Given the description of an element on the screen output the (x, y) to click on. 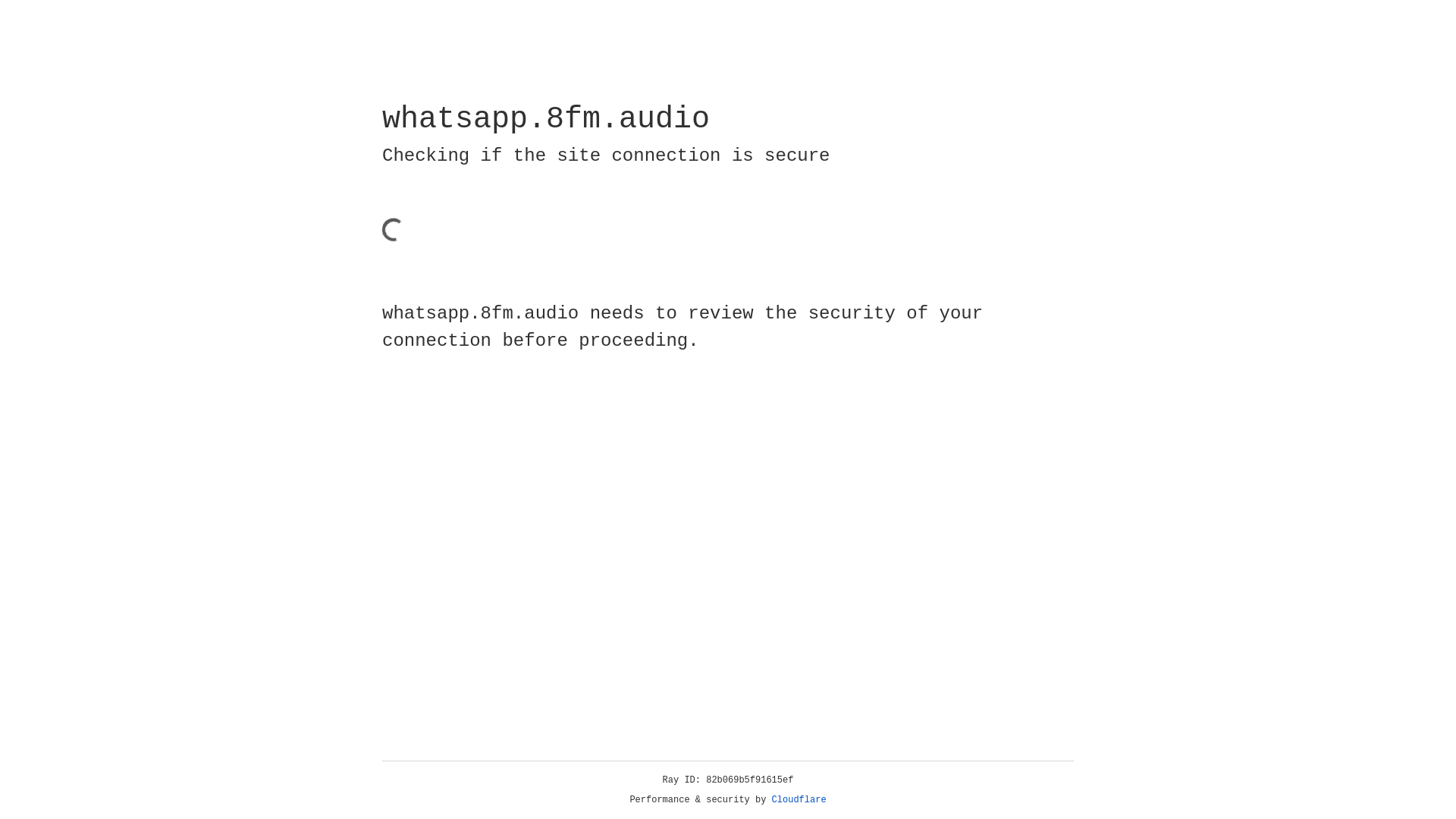
Cloudflare Element type: text (798, 799)
